Given the description of an element on the screen output the (x, y) to click on. 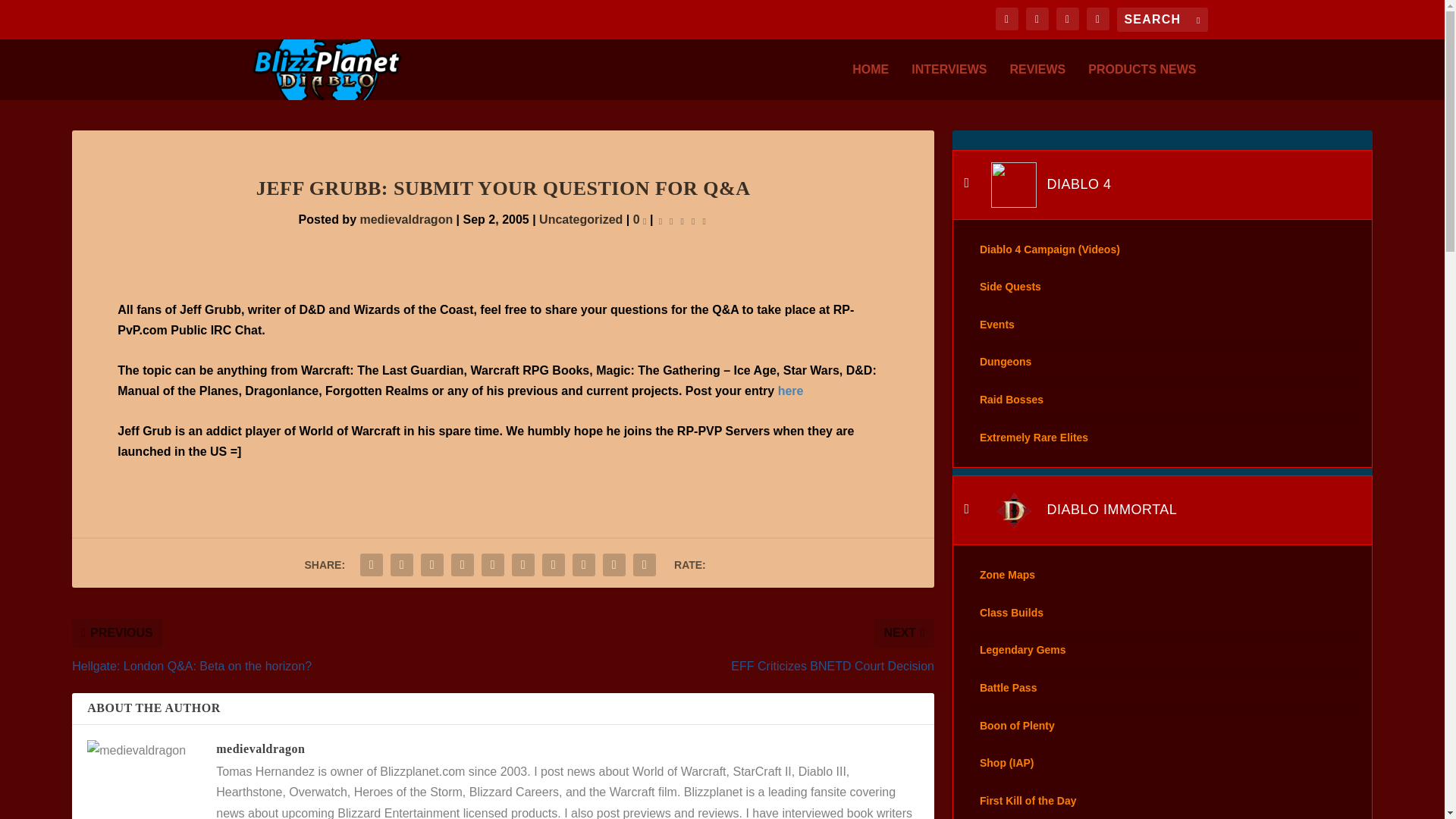
Search for: (1161, 19)
Posts by medievaldragon (405, 219)
0 (639, 219)
REVIEWS (1037, 81)
PRODUCTS NEWS (1141, 81)
INTERVIEWS (949, 81)
Uncategorized (580, 219)
Rating: 0.00 (681, 219)
here (790, 390)
HOME (869, 81)
